Given the description of an element on the screen output the (x, y) to click on. 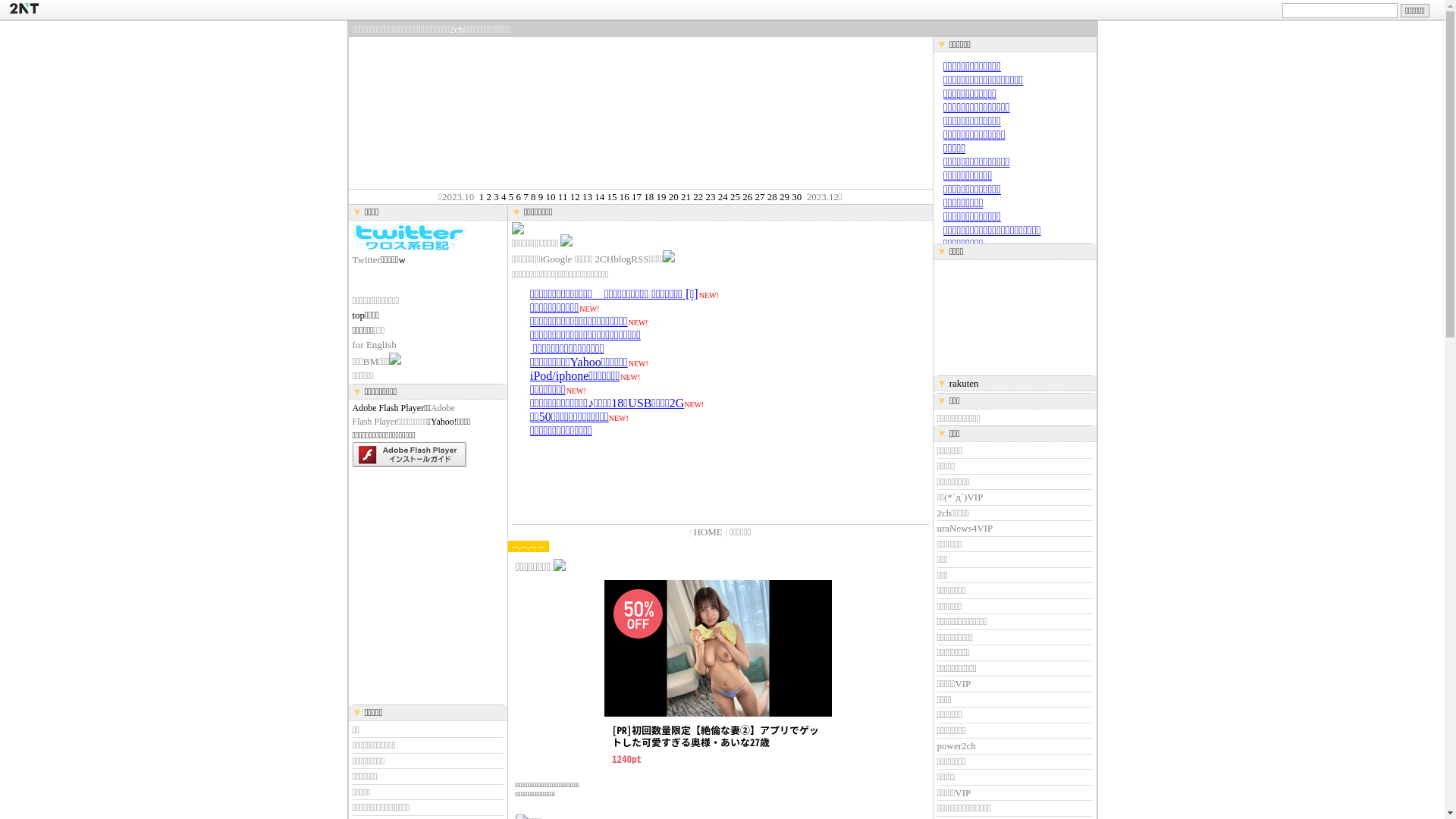
for English Element type: text (373, 344)
Twitter Element type: text (365, 258)
power2ch Element type: text (956, 745)
uraNews4VIP Element type: text (965, 527)
HOME Element type: text (707, 531)
